Given the description of an element on the screen output the (x, y) to click on. 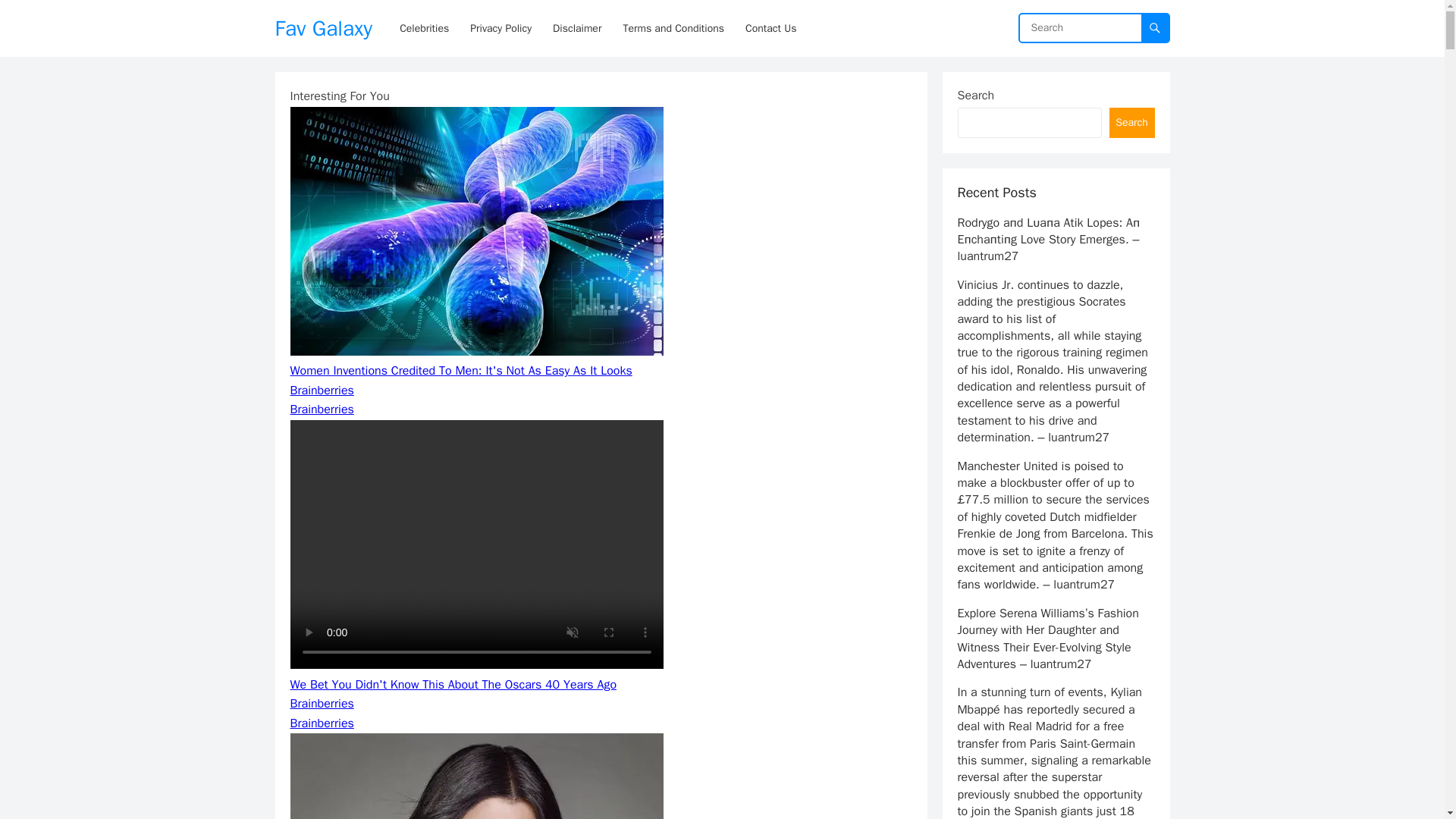
Privacy Policy (500, 28)
Celebrities (424, 28)
Disclaimer (576, 28)
Fav Galaxy (323, 28)
Contact Us (770, 28)
Terms and Conditions (672, 28)
